Given the description of an element on the screen output the (x, y) to click on. 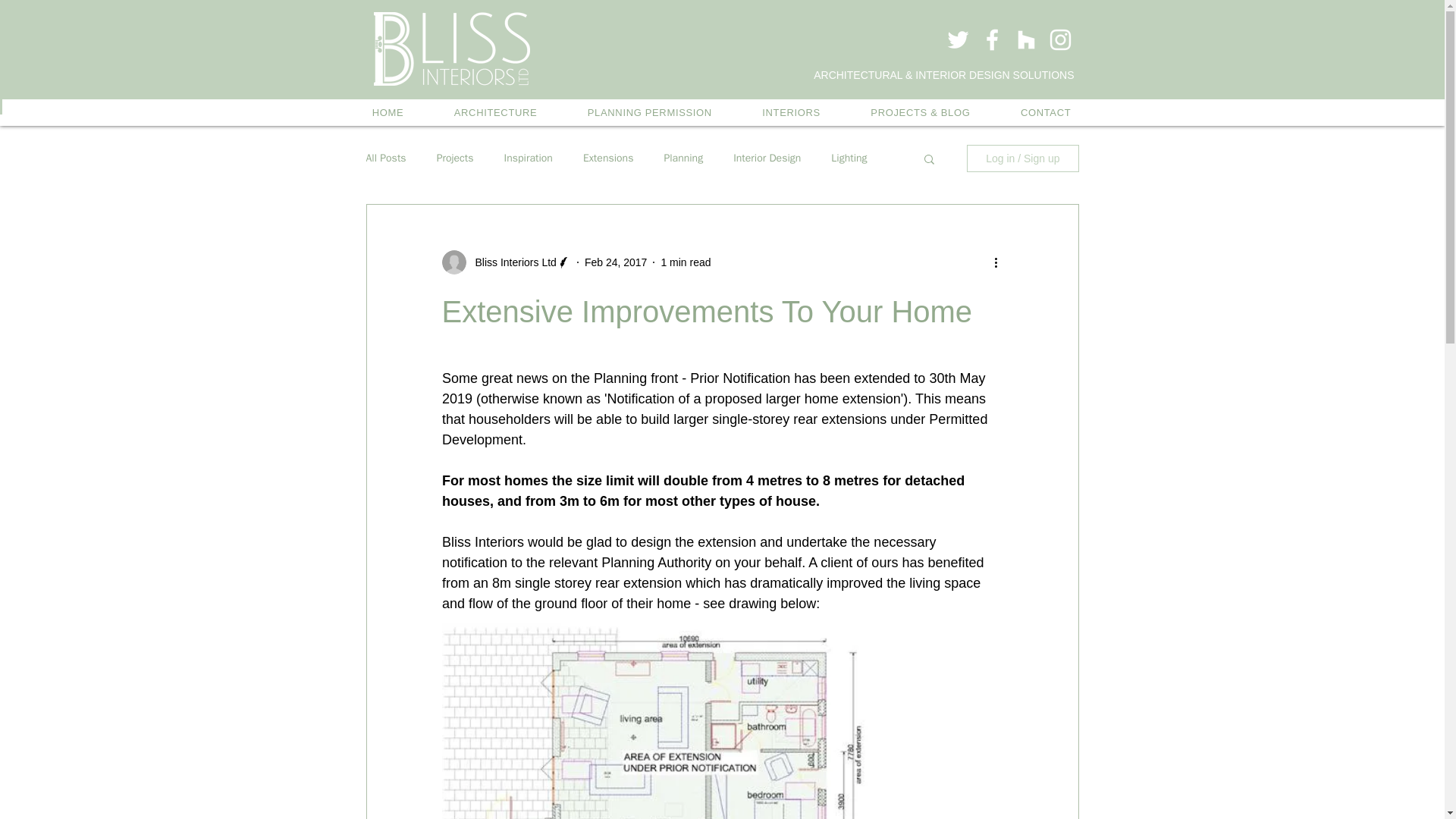
INTERIORS (791, 112)
HOME (388, 112)
Feb 24, 2017 (616, 262)
Planning (683, 158)
Lighting (848, 158)
CONTACT (1045, 112)
All Posts (385, 158)
Extensions (608, 158)
1 min read (685, 262)
Bliss Interiors Ltd (510, 262)
Inspiration (528, 158)
Interior Design (766, 158)
Projects (455, 158)
ARCHITECTURE (495, 112)
PLANNING PERMISSION (649, 112)
